Given the description of an element on the screen output the (x, y) to click on. 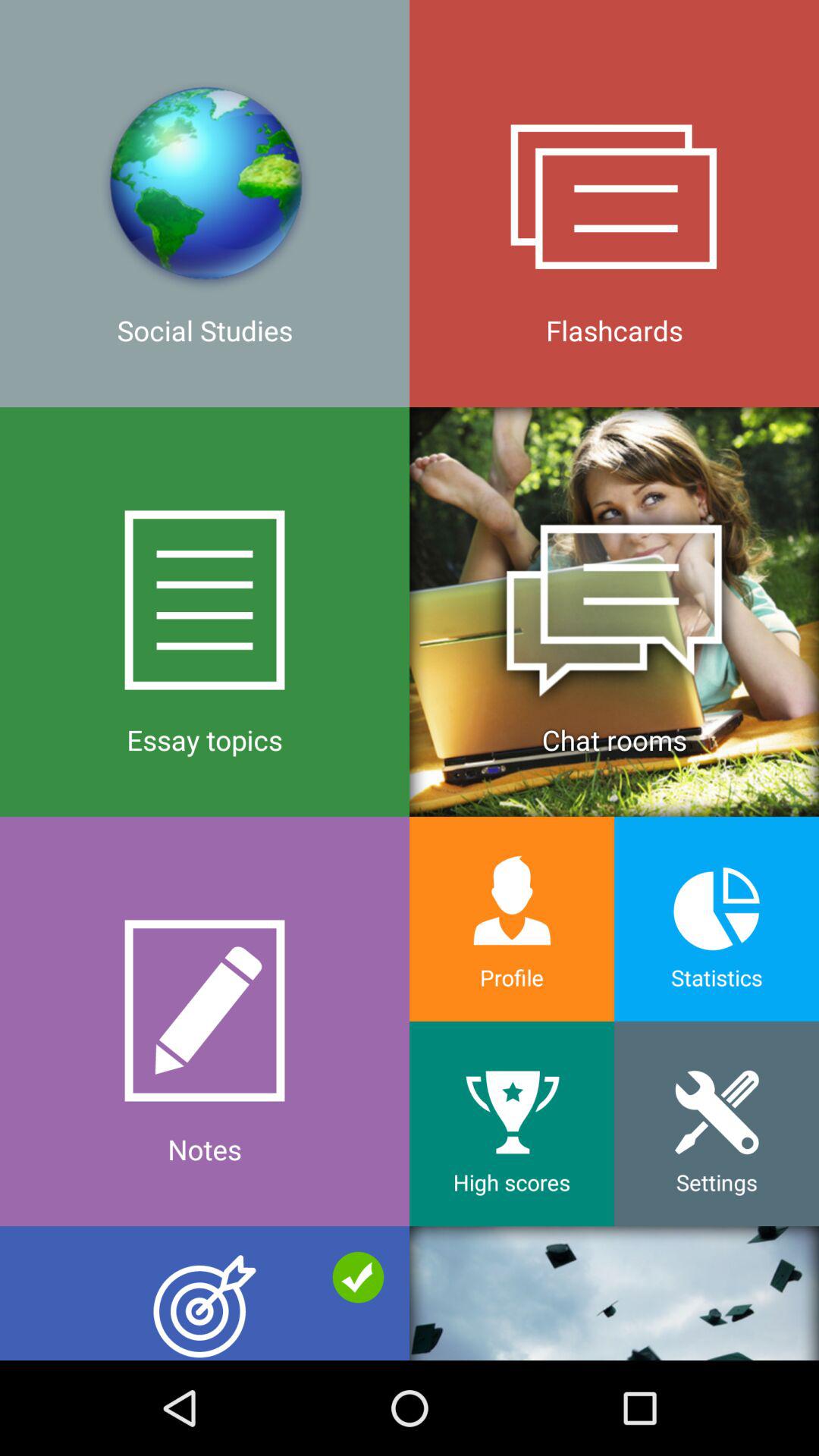
select the icon to the right of the social studies icon (614, 611)
